Given the description of an element on the screen output the (x, y) to click on. 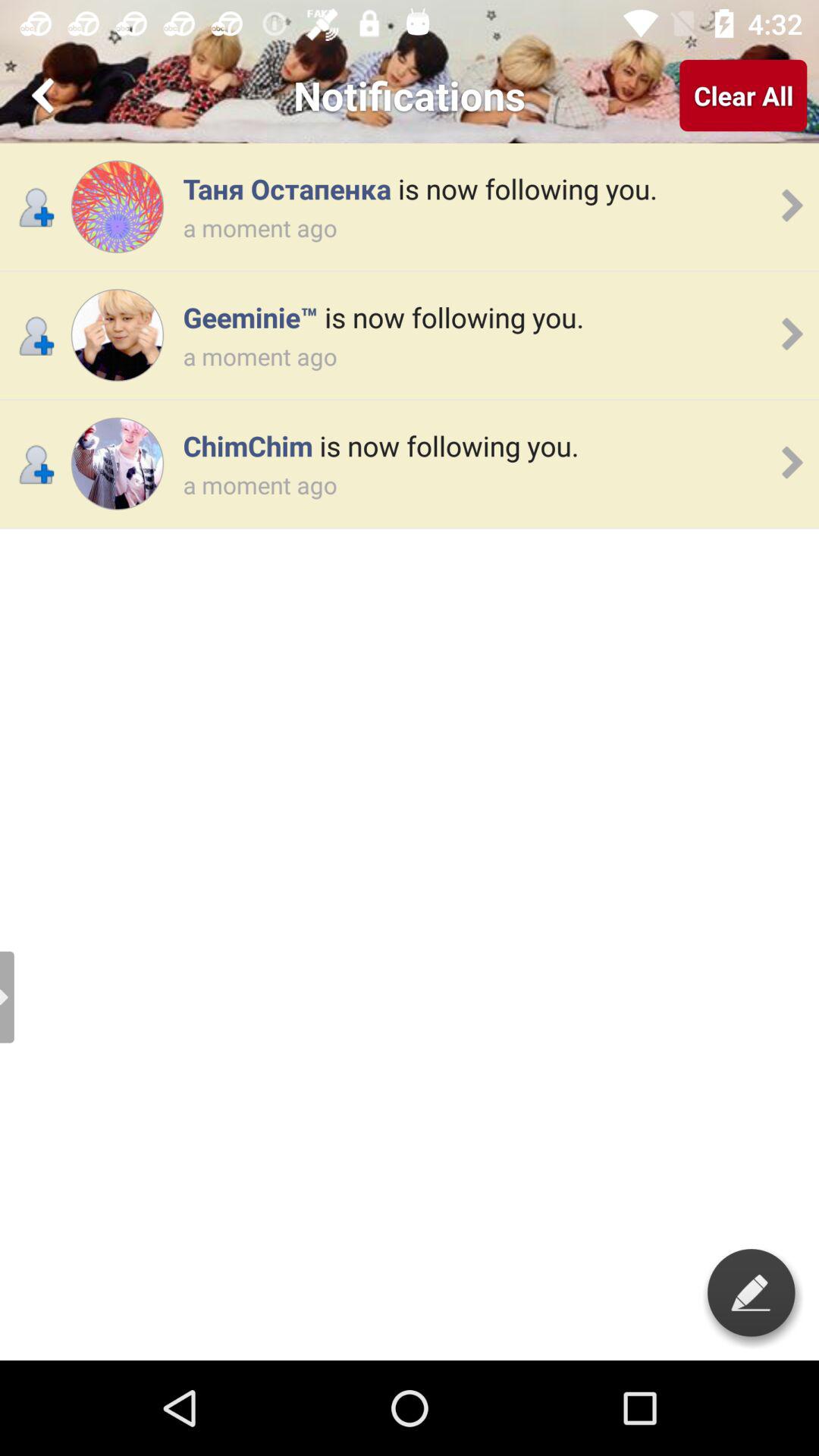
see profile (117, 463)
